Given the description of an element on the screen output the (x, y) to click on. 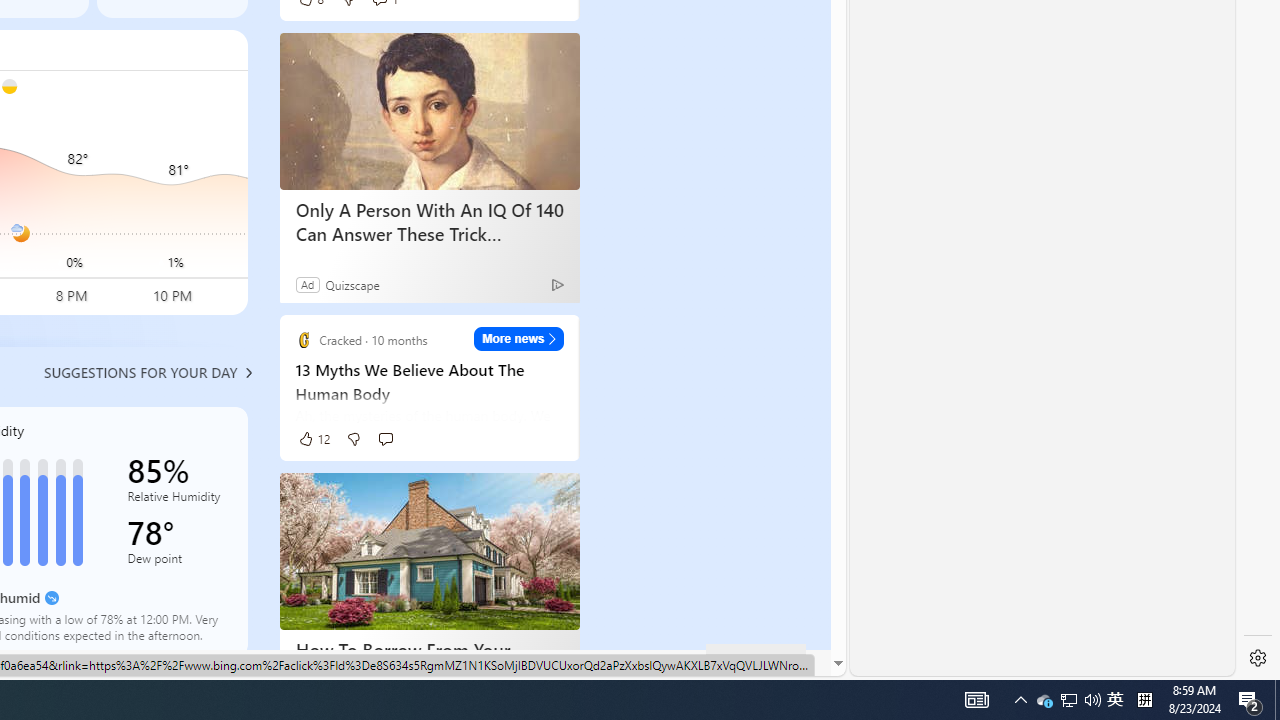
Privacy & Cookies (329, 662)
Privacy & Cookies (329, 663)
Data Providers (595, 663)
Quizscape (352, 284)
More news (518, 338)
Relative Humidity (176, 500)
Class: feedback_link_icon-DS-EntryPoint1-1 (726, 663)
Data Providers (595, 662)
